Given the description of an element on the screen output the (x, y) to click on. 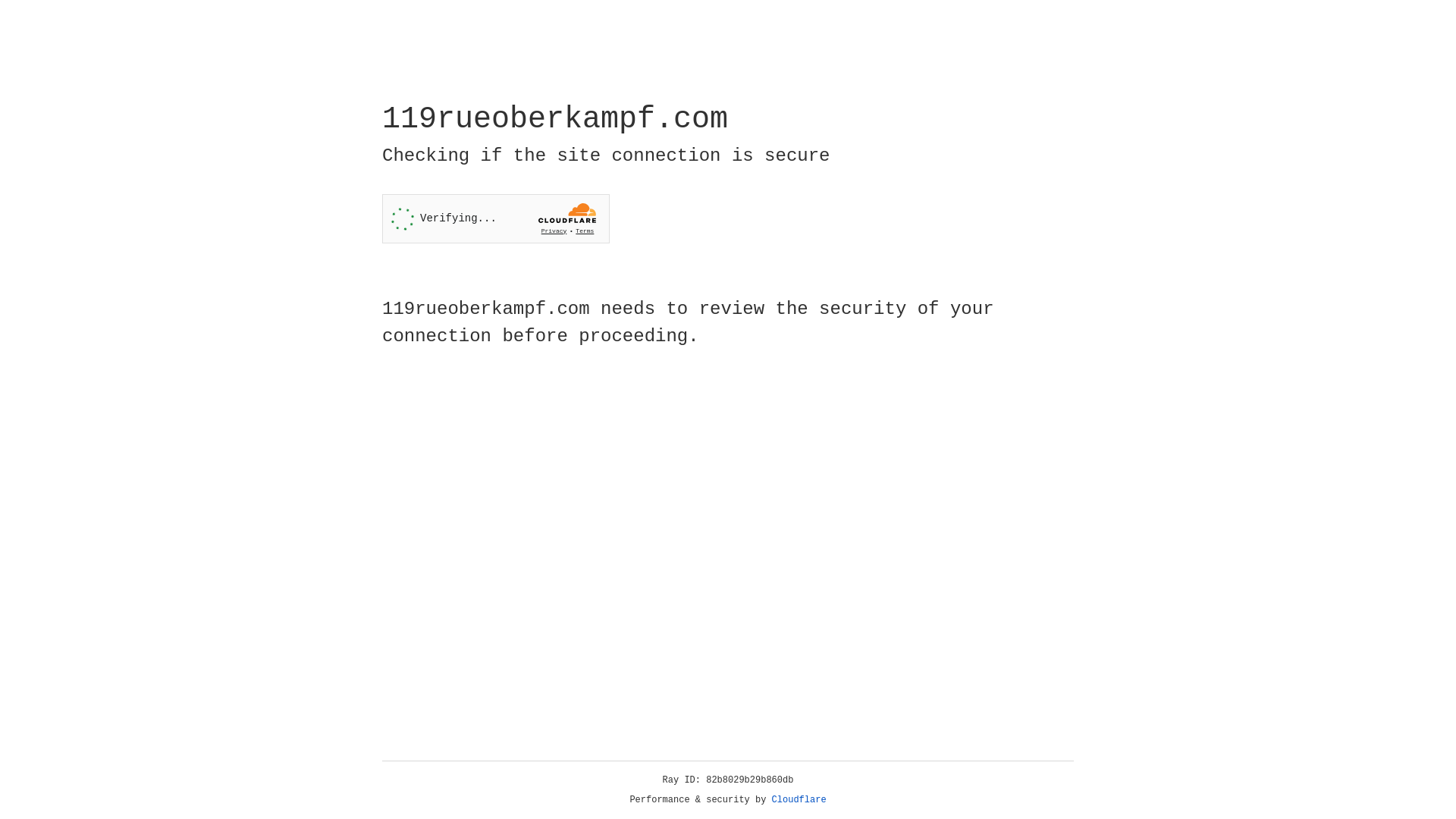
Cloudflare Element type: text (798, 799)
Widget containing a Cloudflare security challenge Element type: hover (495, 218)
